Given the description of an element on the screen output the (x, y) to click on. 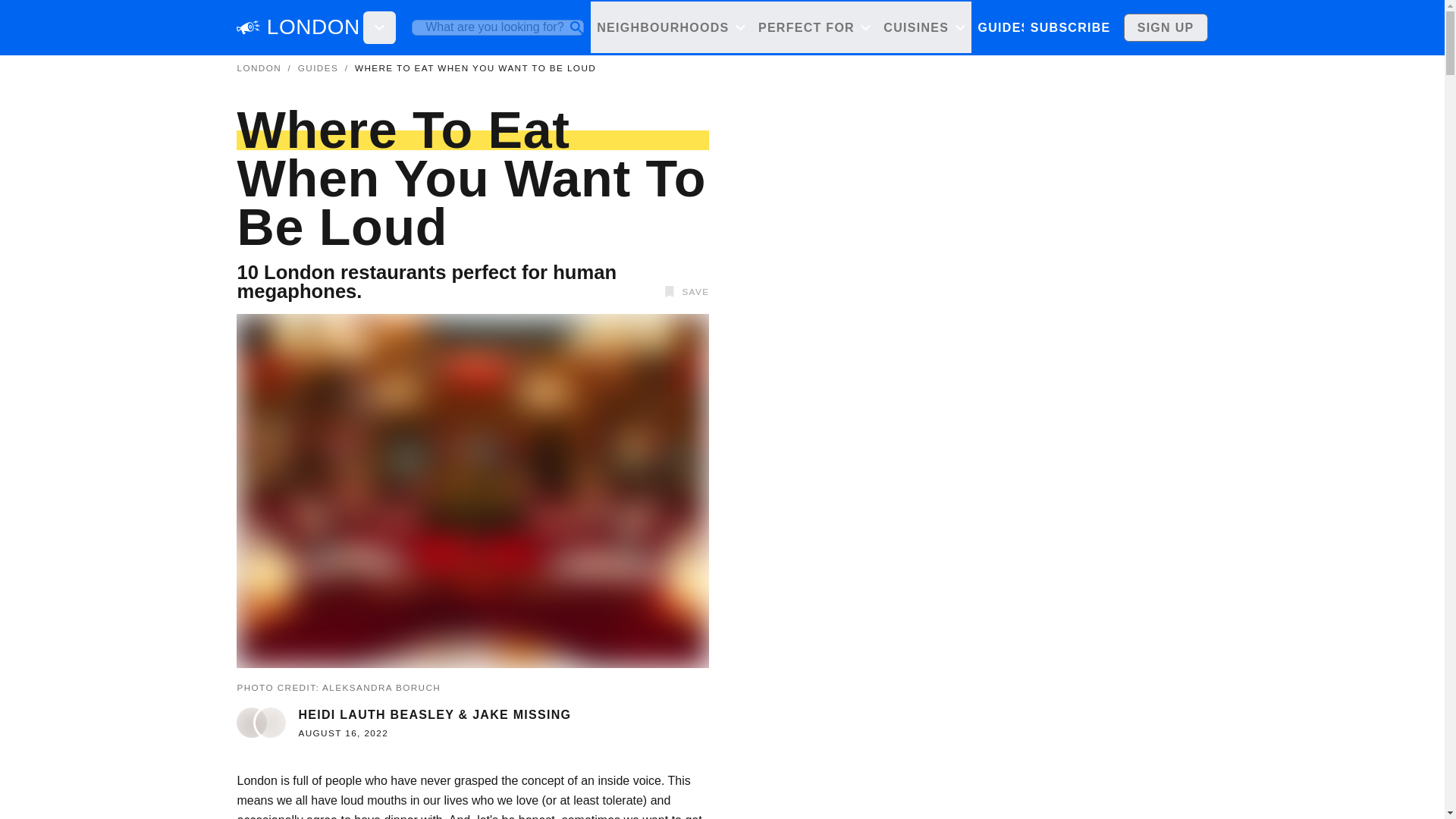
LONDON (312, 26)
GUIDES (317, 67)
SAVE (684, 291)
GUIDES (1003, 27)
SUBSCRIBE (1069, 27)
LONDON (258, 67)
What are you looking for? (497, 27)
PERFECT FOR (813, 27)
REVIEWS (1074, 27)
SIGN UP (1166, 27)
